Given the description of an element on the screen output the (x, y) to click on. 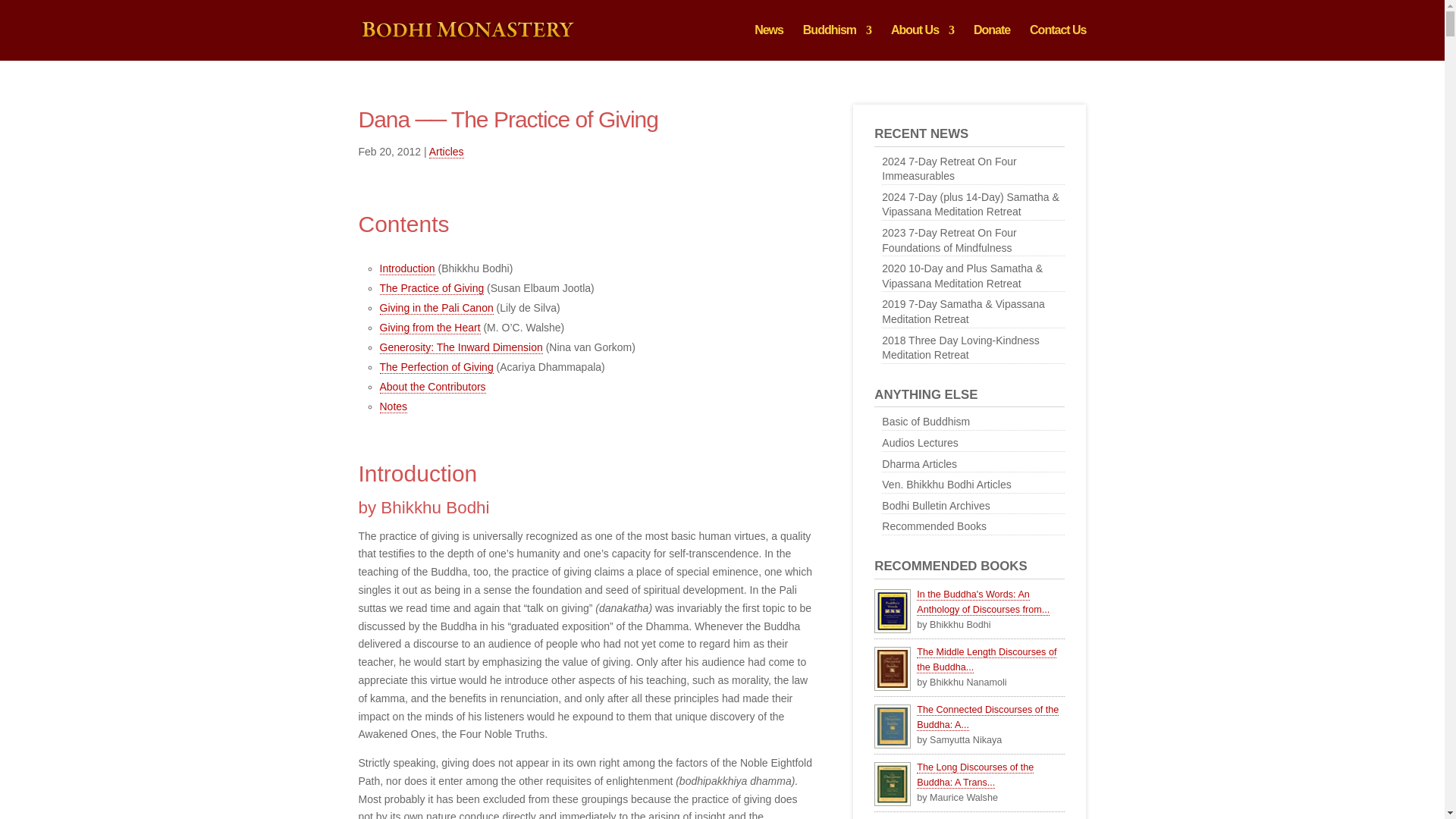
Audios Lectures (973, 443)
The Practice of Giving (430, 287)
Contents (403, 223)
Giving in the Pali Canon (435, 308)
Recommended Books (973, 527)
About the Contributors (431, 386)
Donate (992, 42)
Basic of Buddhism (973, 422)
About Us (922, 42)
Buddhism (836, 42)
Giving from the Heart (429, 327)
Introduction (405, 268)
Generosity: The Inward Dimension (459, 347)
Dharma Articles (973, 465)
Notes (392, 406)
